Given the description of an element on the screen output the (x, y) to click on. 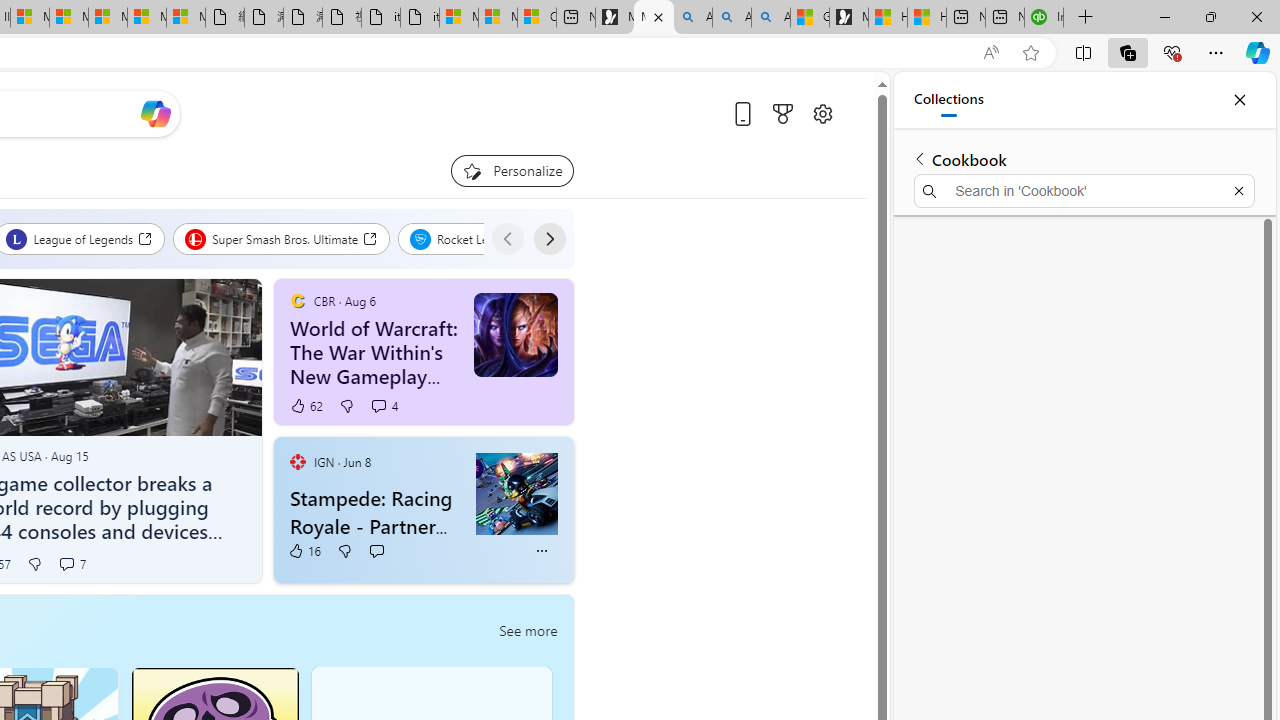
View comments 7 Comment (66, 563)
View comments 4 Comment (377, 405)
Exit search (1238, 190)
Rocket League (472, 238)
Back to list of collections (920, 158)
Next (548, 238)
Hide this story (543, 466)
62 Like (306, 405)
